Given the description of an element on the screen output the (x, y) to click on. 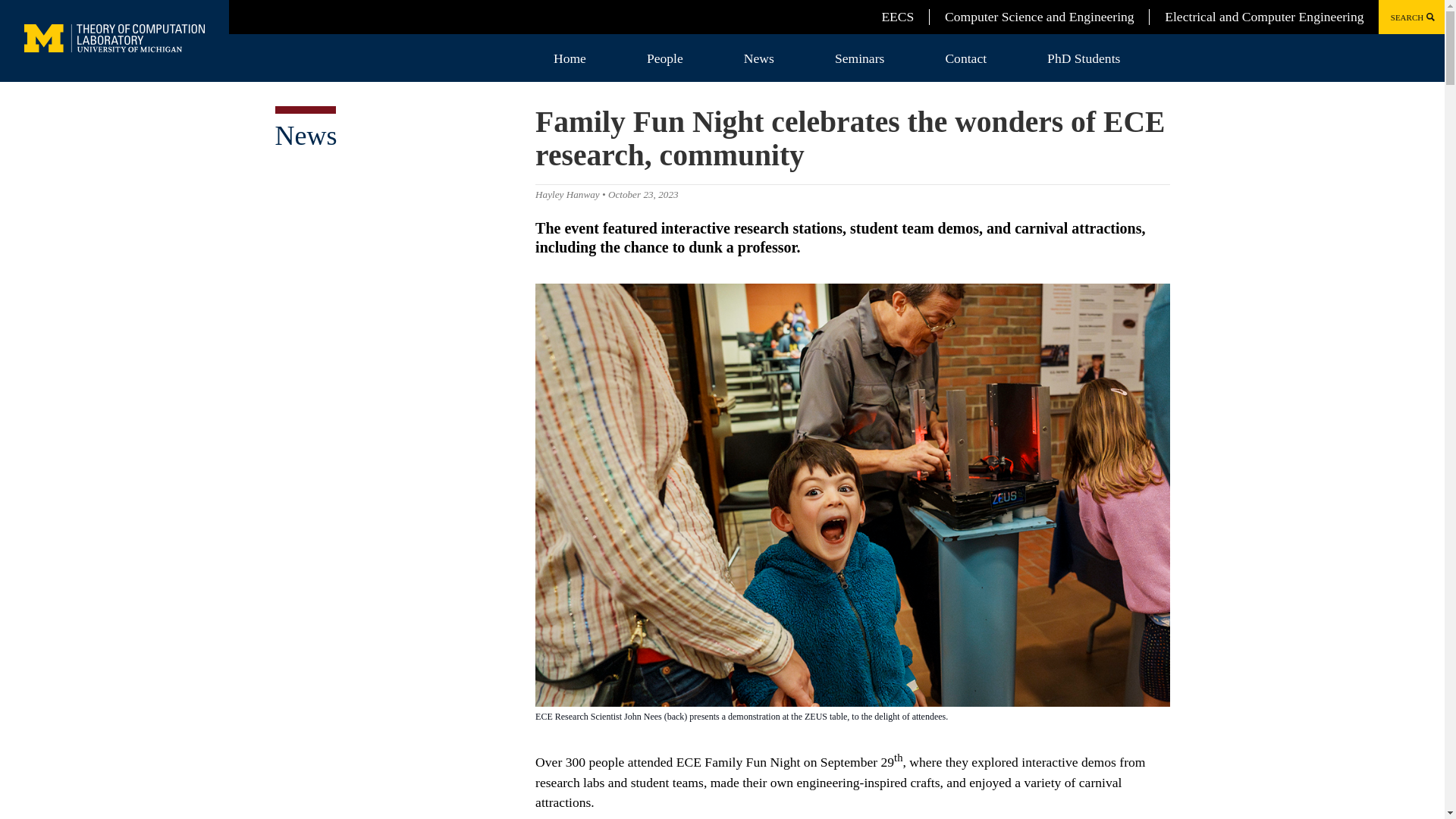
News (759, 57)
Electrical and Computer Engineering (1263, 16)
Computer Science and Engineering (1039, 16)
Contact (965, 57)
News (305, 135)
EECS (897, 16)
People (664, 57)
Home (569, 57)
PhD Students (1083, 57)
Seminars (859, 57)
